Given the description of an element on the screen output the (x, y) to click on. 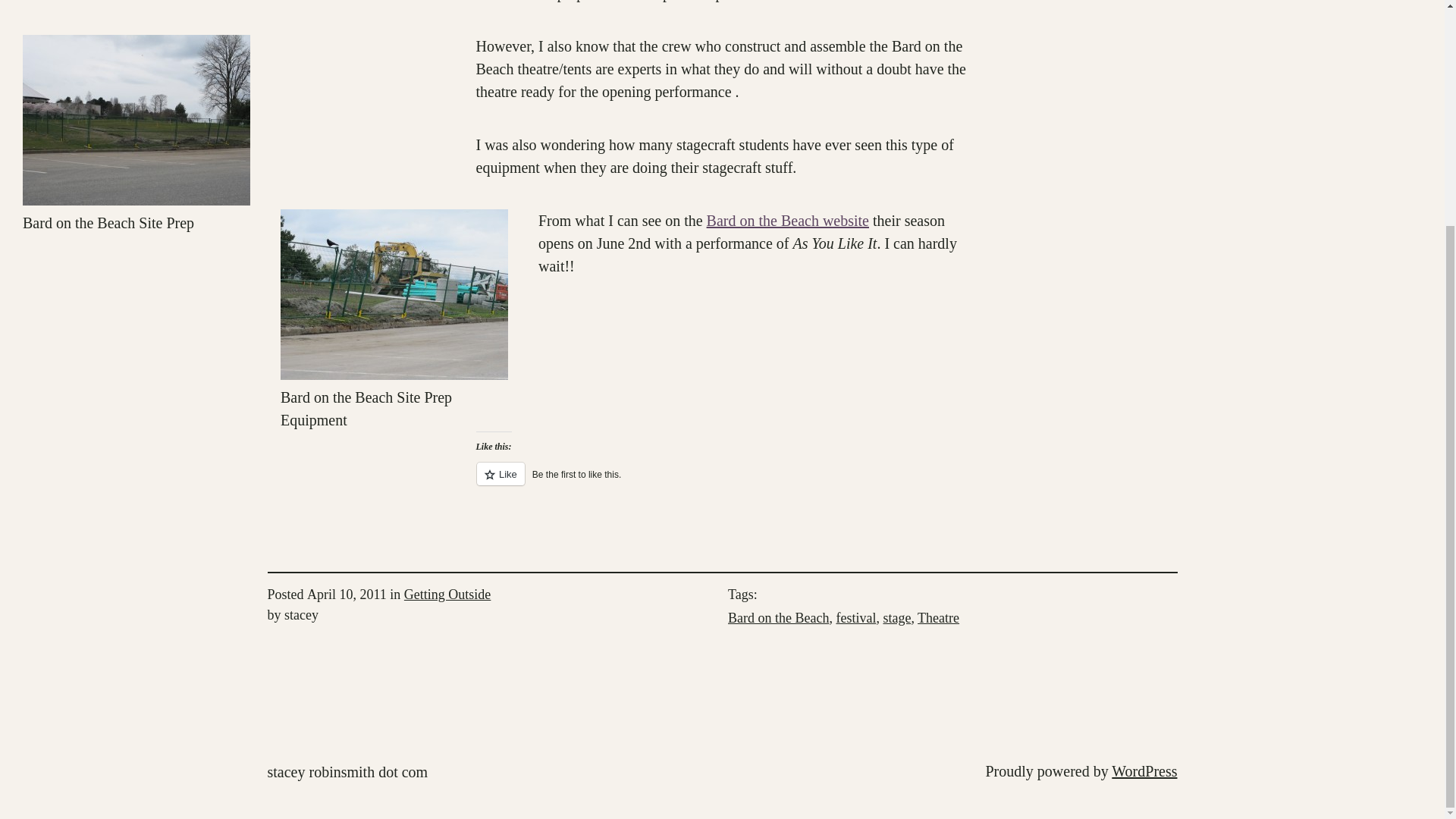
WordPress (1144, 770)
Bard on the Beach (778, 617)
Bard on the Beach Site Prep (136, 120)
festival (855, 617)
Like or Reblog (722, 482)
stage (896, 617)
Getting Outside (448, 594)
Bard on the Beach (787, 220)
stacey robinsmith dot com (347, 771)
Bard on the Beach website (787, 220)
Theatre (938, 617)
Bard on the Beach Site Prep Equipment (394, 294)
